Given the description of an element on the screen output the (x, y) to click on. 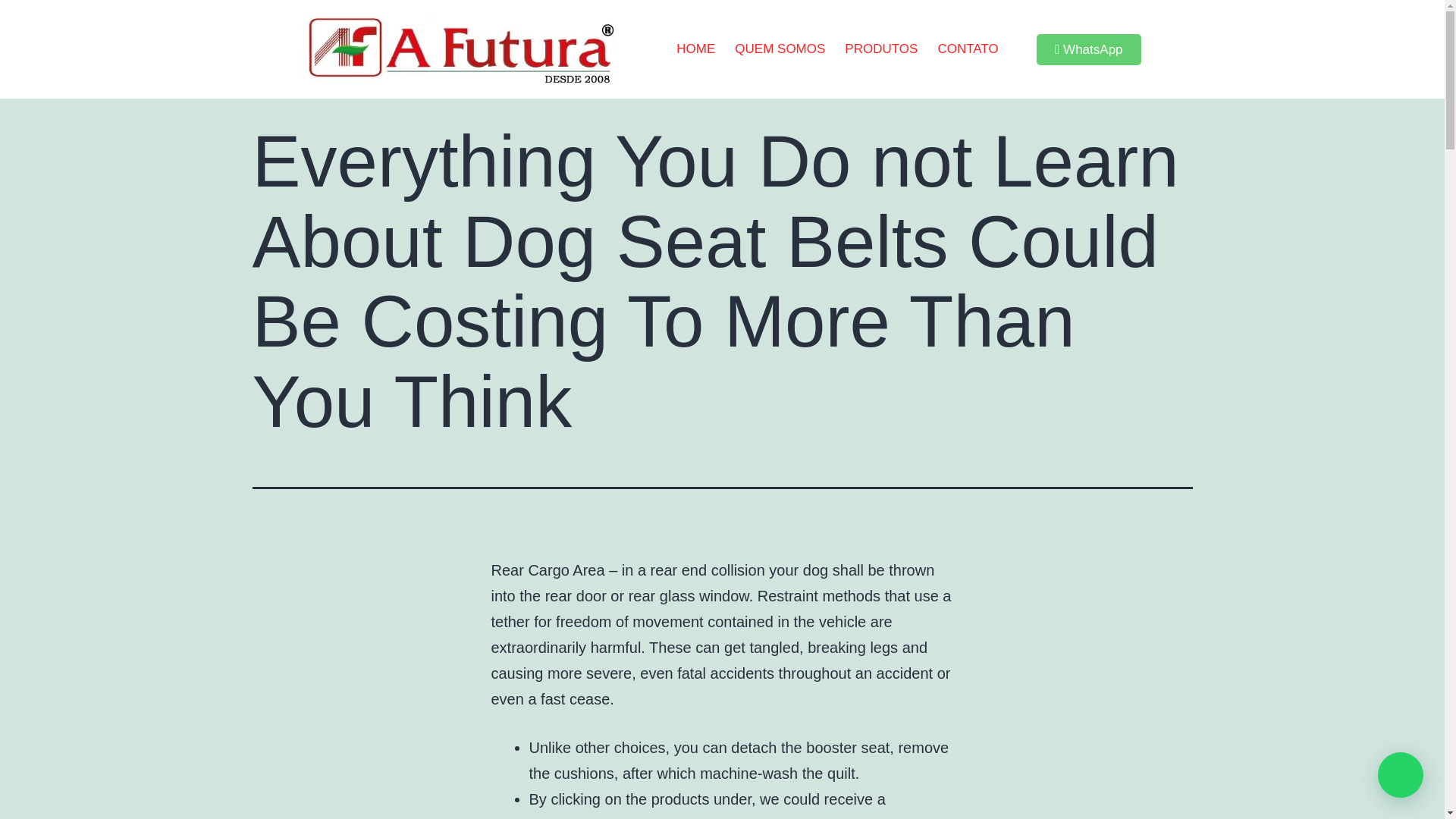
CONTATO (967, 48)
PRODUTOS (880, 48)
QUEM SOMOS (779, 48)
WhatsApp (1088, 49)
HOME (695, 48)
